Given the description of an element on the screen output the (x, y) to click on. 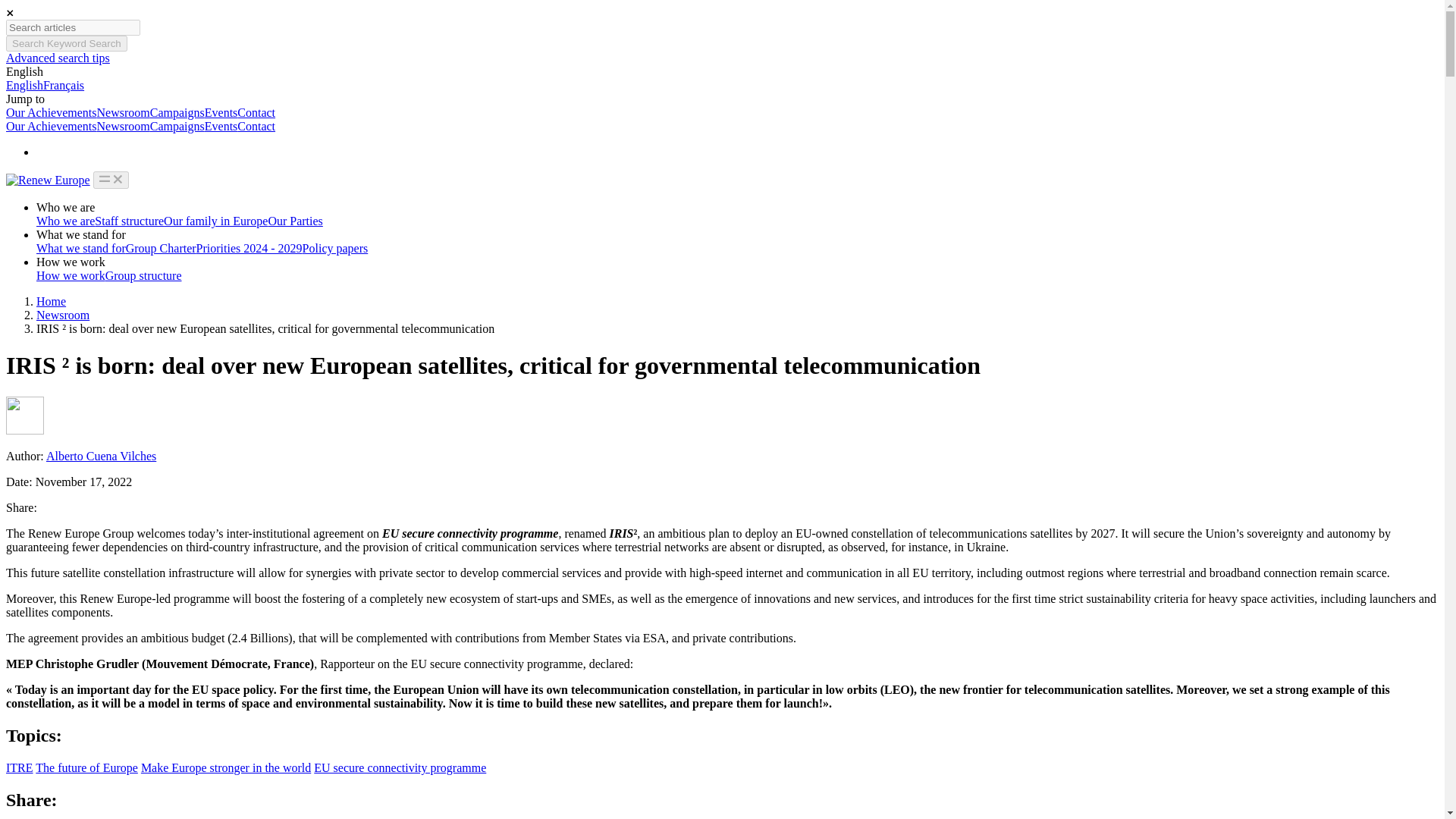
What we stand for (80, 247)
English (24, 71)
Policy papers (335, 247)
Our family in Europe (215, 220)
How we work (70, 275)
Newsroom (62, 314)
Campaigns (177, 125)
Campaigns (177, 112)
Our Parties (294, 220)
Our Achievements (51, 112)
Who we are (65, 220)
ITRE (19, 767)
Advanced search tips (57, 57)
Staff structure (128, 220)
Home (50, 300)
